Given the description of an element on the screen output the (x, y) to click on. 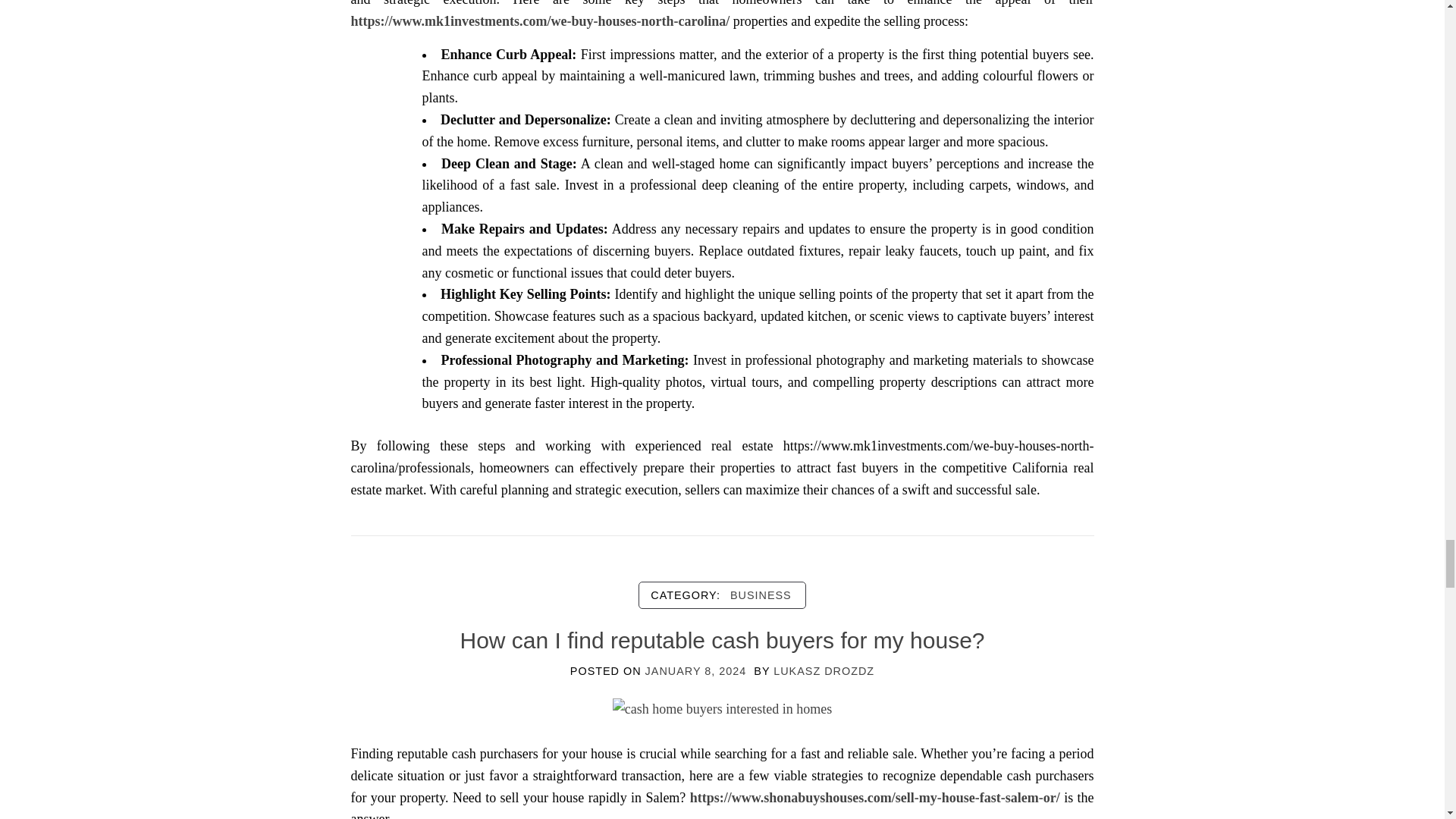
How can I find reputable cash buyers for my house? (721, 708)
